Given the description of an element on the screen output the (x, y) to click on. 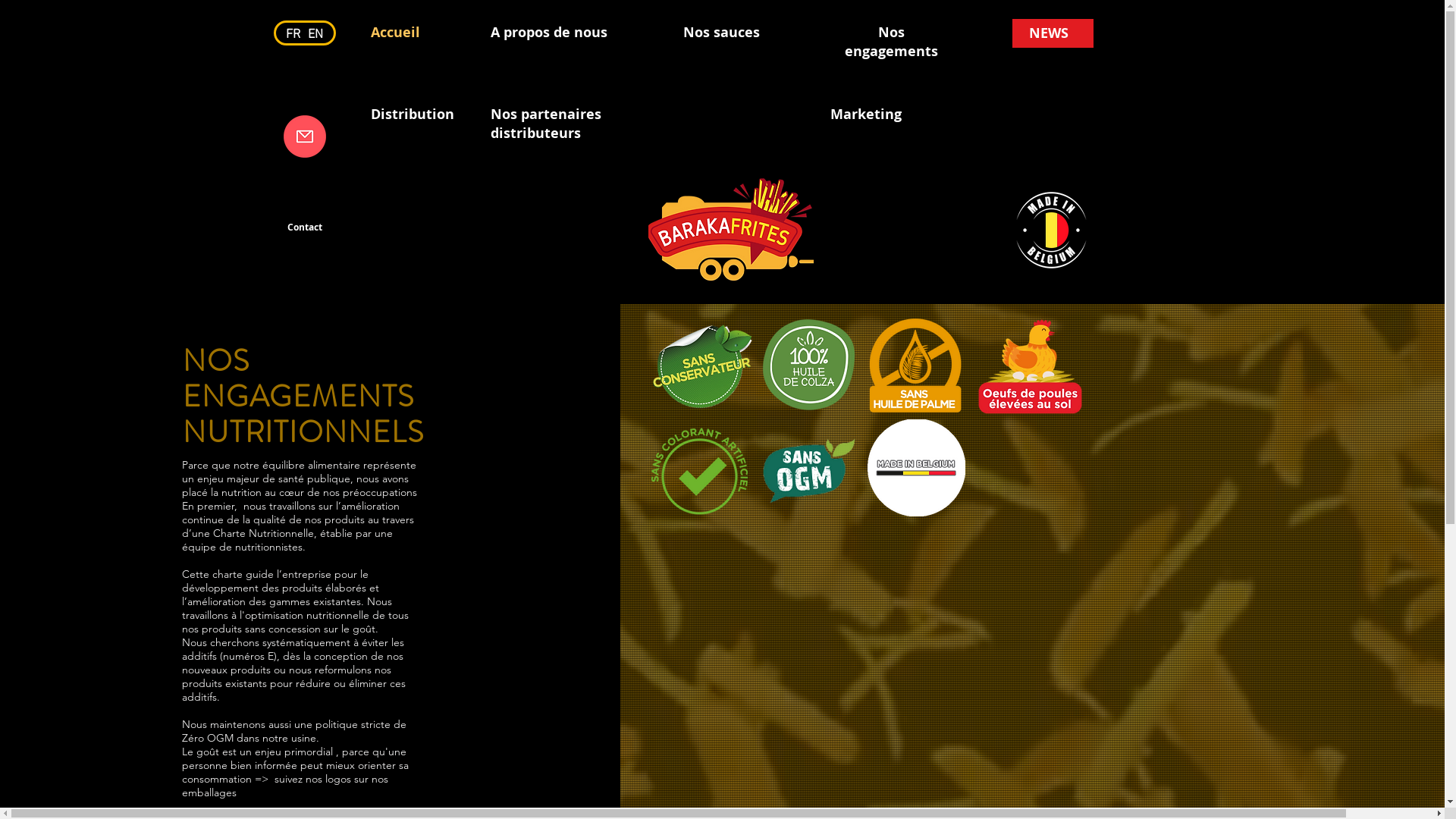
EN Element type: text (315, 32)
Back to Top Element type: hover (1416, 772)
Accueil Element type: text (395, 31)
Marketing Element type: text (864, 113)
Distribution Element type: text (411, 113)
NEWS Element type: text (1047, 32)
FR Element type: text (292, 32)
Nos engagements Element type: text (891, 41)
A propos de nous Element type: text (547, 31)
Contact Element type: text (303, 226)
Nos sauces Element type: text (721, 31)
Nos partenaires distributeurs Element type: text (544, 123)
